Given the description of an element on the screen output the (x, y) to click on. 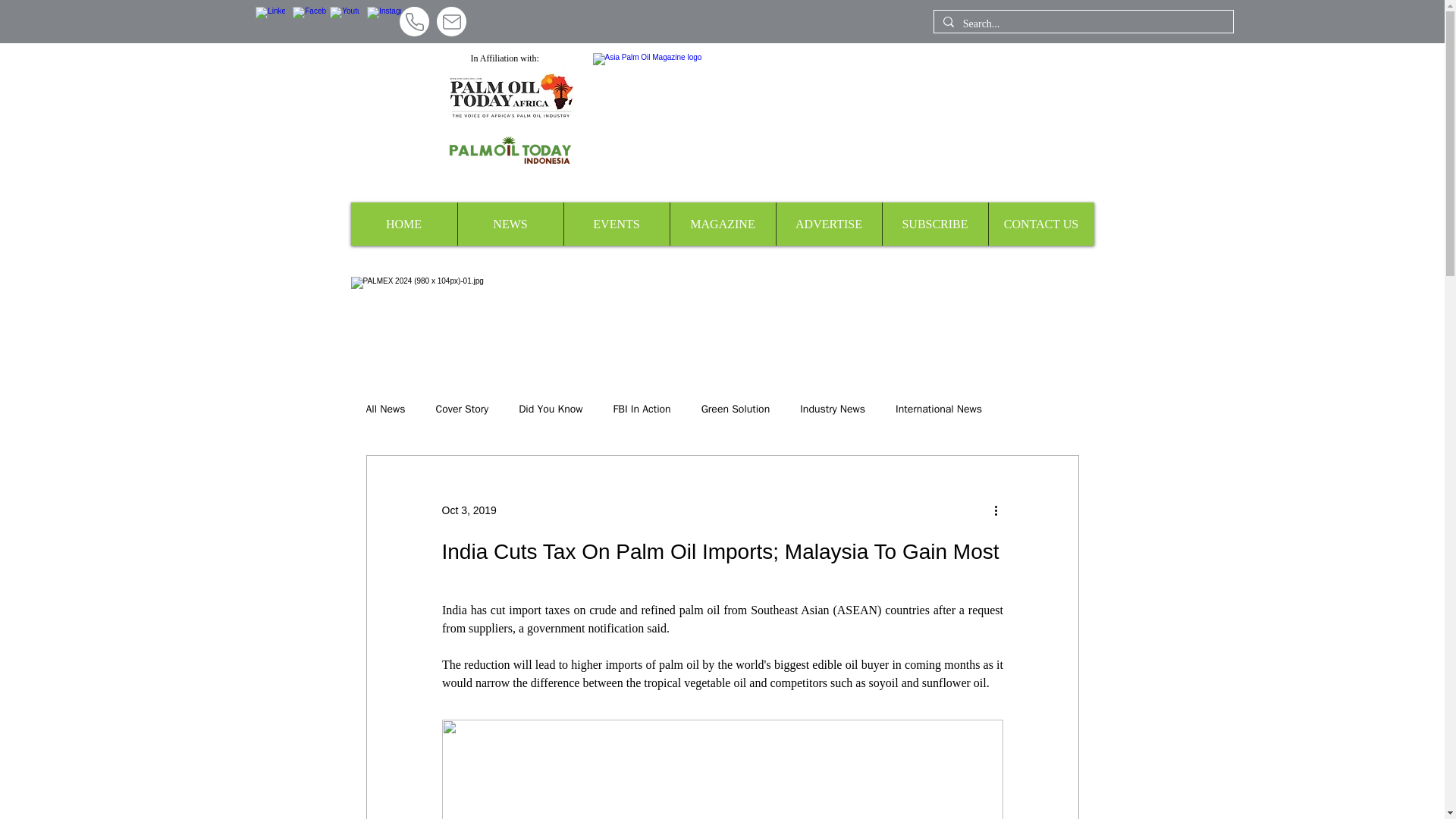
CONTACT US (1040, 223)
ADVERTISE (827, 223)
NEWS (509, 223)
Cover Story (462, 409)
International News (938, 409)
Green Solution (735, 409)
Oct 3, 2019 (468, 509)
MAGAZINE (721, 223)
SUBSCRIBE (933, 223)
Industry News (831, 409)
EVENTS (615, 223)
All News (384, 409)
Did You Know (550, 409)
HOME (403, 223)
FBI In Action (641, 409)
